Given the description of an element on the screen output the (x, y) to click on. 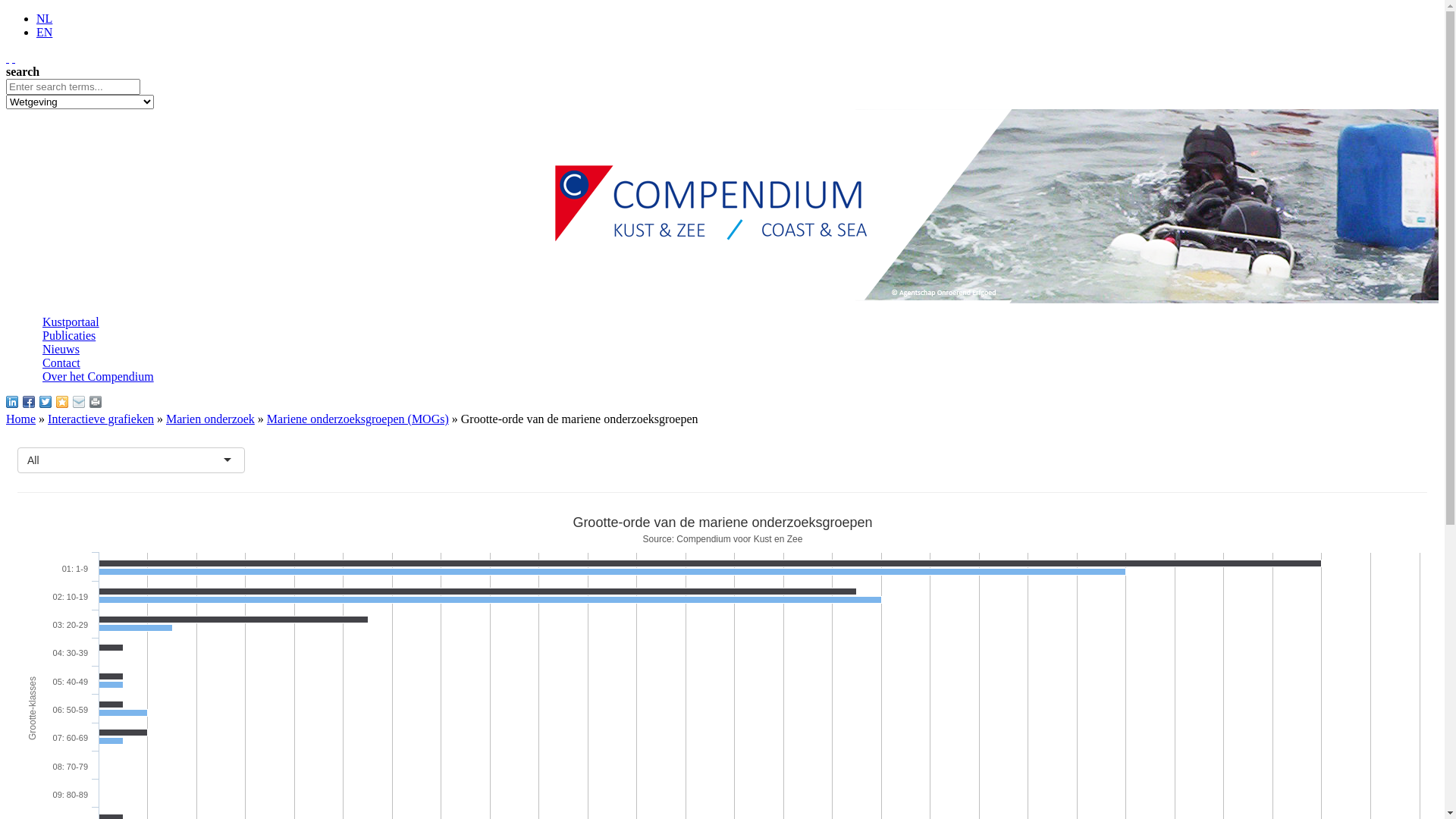
Nieuws Element type: text (60, 348)
Mariene onderzoeksgroepen (MOGs) Element type: text (357, 418)
Home Element type: text (20, 418)
Email this to a friend Element type: hover (78, 401)
Print Element type: hover (95, 401)
Kustportaal Element type: text (70, 321)
Over het Compendium Element type: text (97, 376)
Contact Element type: text (61, 362)
Interactieve grafieken Element type: text (100, 418)
Share on Linkedin Element type: hover (12, 401)
Share on Facebook Element type: hover (28, 401)
EN Element type: text (44, 31)
Marien onderzoek Element type: text (210, 418)
  Element type: text (7, 57)
Overslaan en naar de inhoud gaan Element type: text (88, 12)
Save to Browser Favorites Element type: hover (62, 401)
Publicaties Element type: text (68, 335)
  Element type: text (13, 57)
NL Element type: text (44, 18)
Share on Twitter Element type: hover (45, 401)
